Given the description of an element on the screen output the (x, y) to click on. 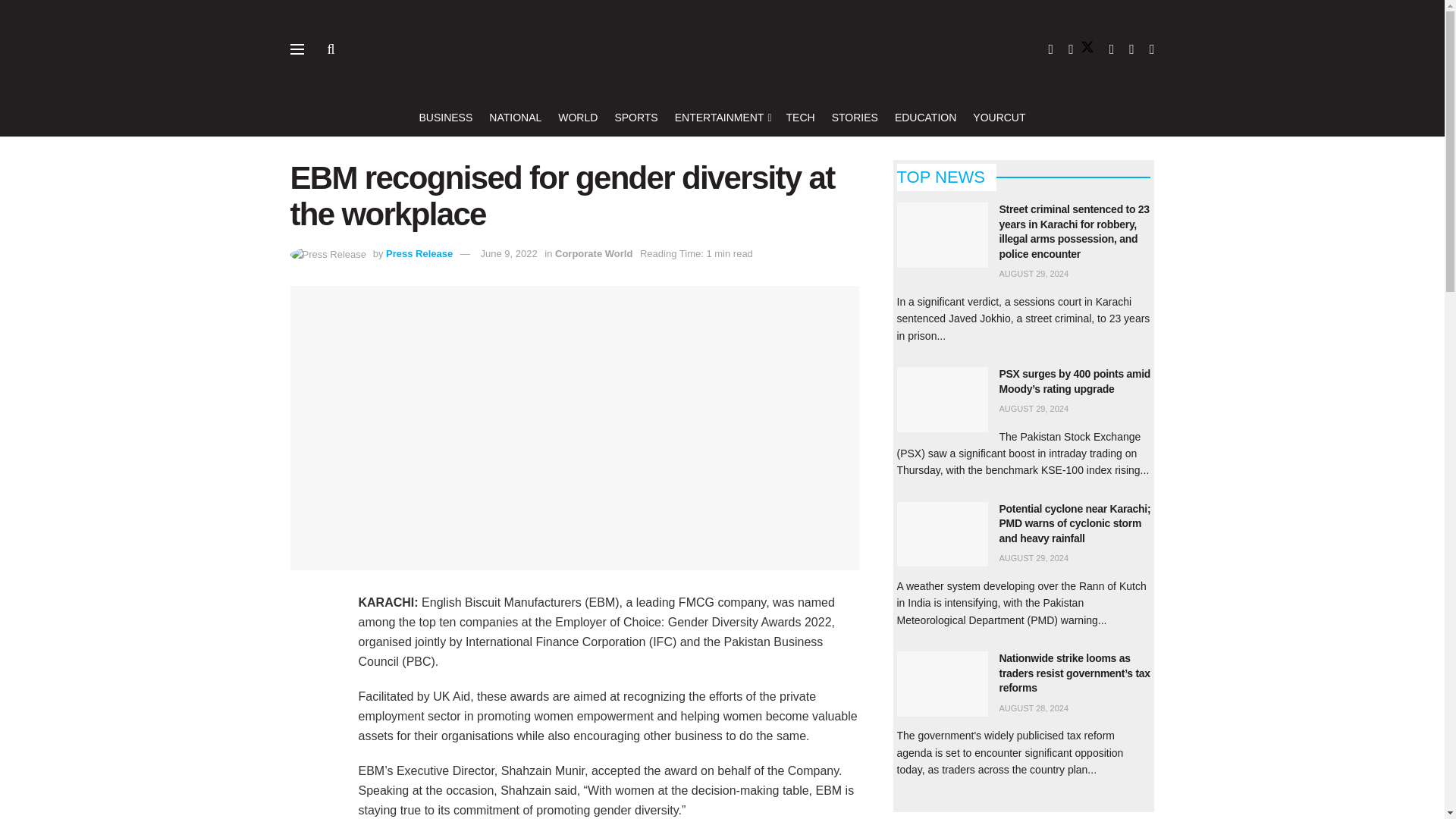
BUSINESS (445, 117)
WORLD (576, 117)
Corporate World (592, 253)
EDUCATION (925, 117)
ENTERTAINMENT (722, 117)
TECH (800, 117)
Press Release (418, 253)
YOURCUT (998, 117)
NATIONAL (515, 117)
June 9, 2022 (508, 253)
